Given the description of an element on the screen output the (x, y) to click on. 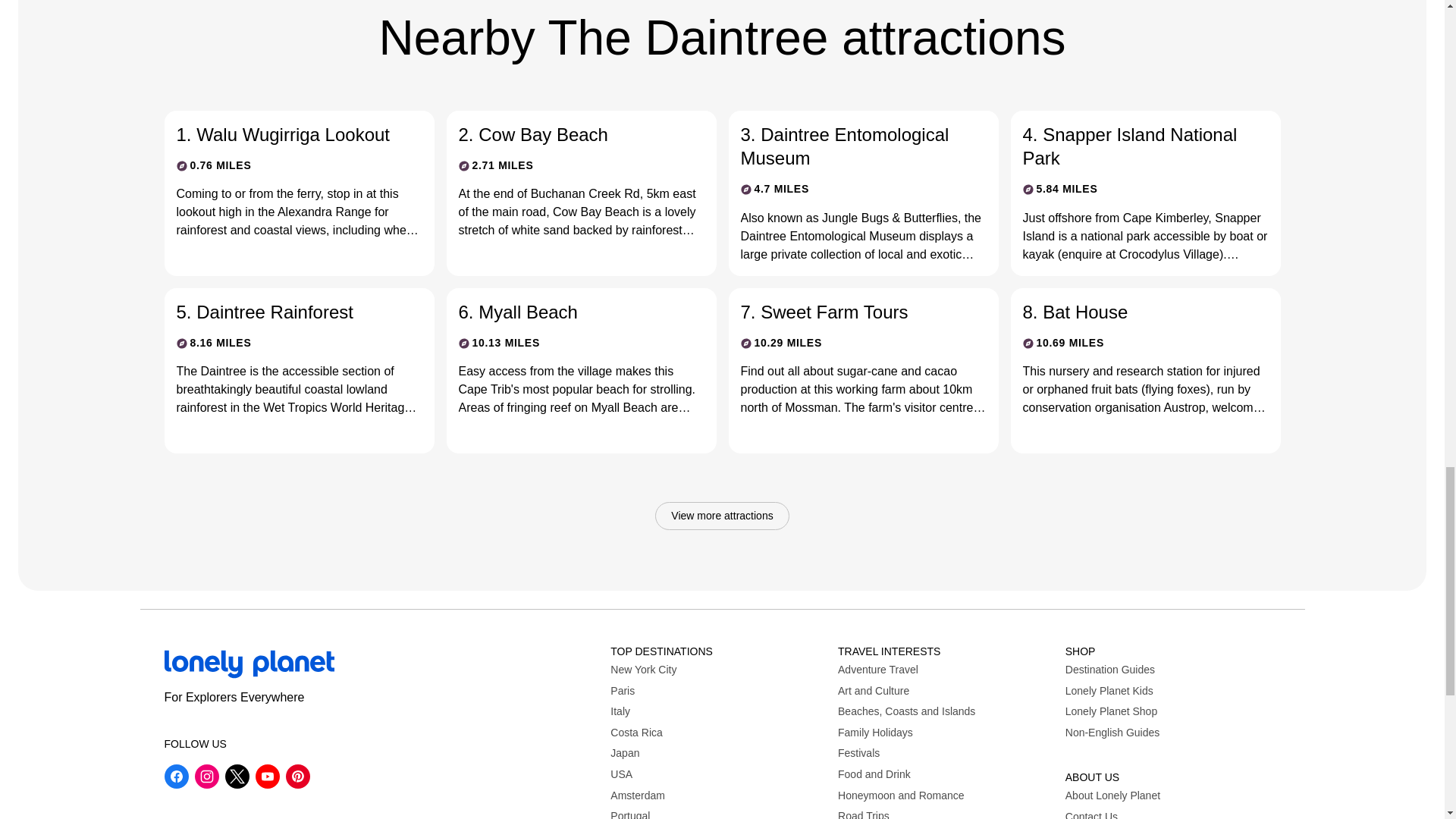
6. Myall Beach (568, 311)
2. Cow Bay Beach (568, 134)
1. Walu Wugirriga Lookout (286, 134)
3. Daintree Entomological Museum (849, 145)
8. Bat House (1132, 311)
7. Sweet Farm Tours (849, 311)
5. Daintree Rainforest (286, 311)
4. Snapper Island National Park (1132, 145)
